Given the description of an element on the screen output the (x, y) to click on. 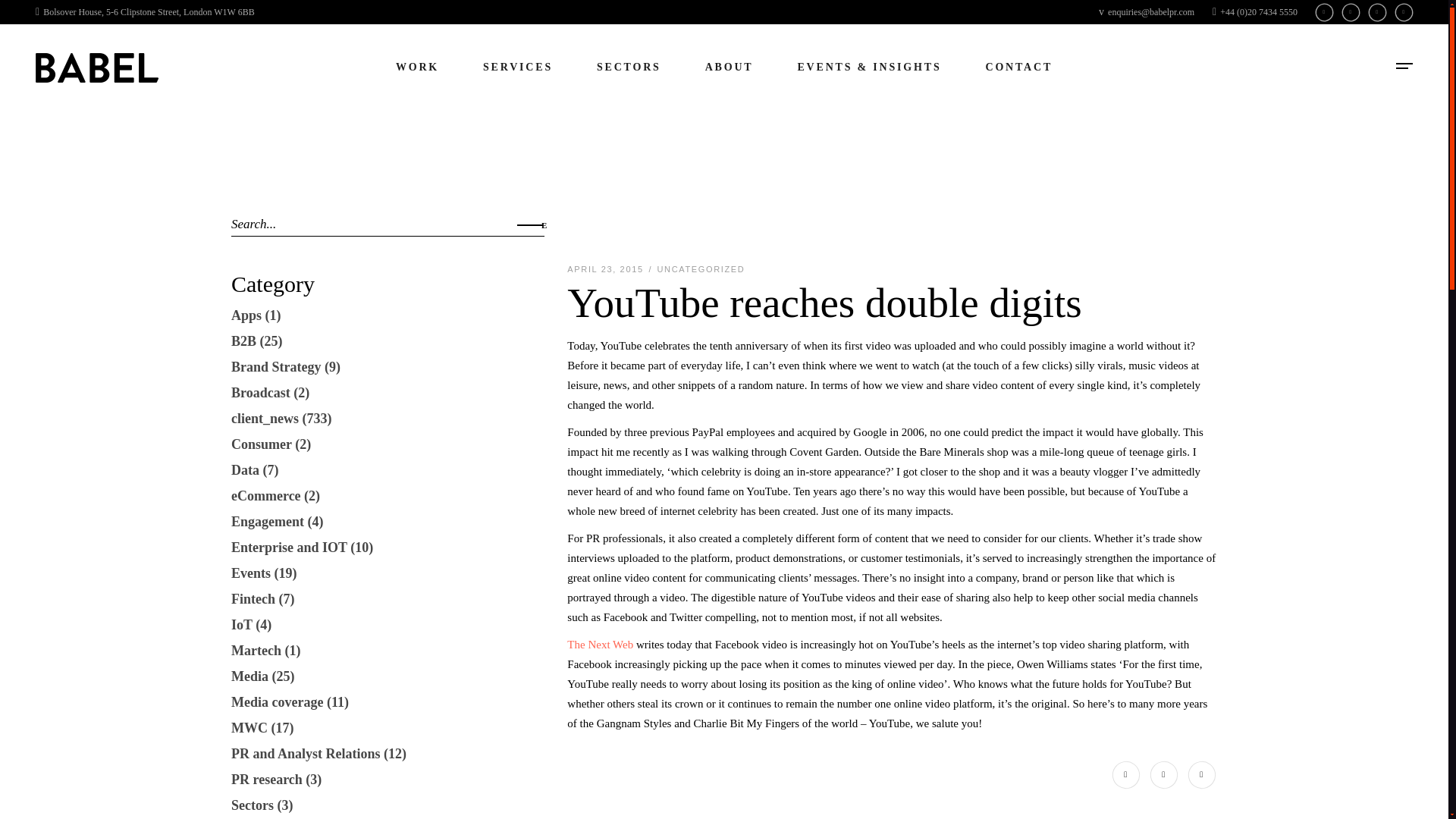
Bolsover House, 5-6 Clipstone Street, London W1W 6BB (144, 11)
